Given the description of an element on the screen output the (x, y) to click on. 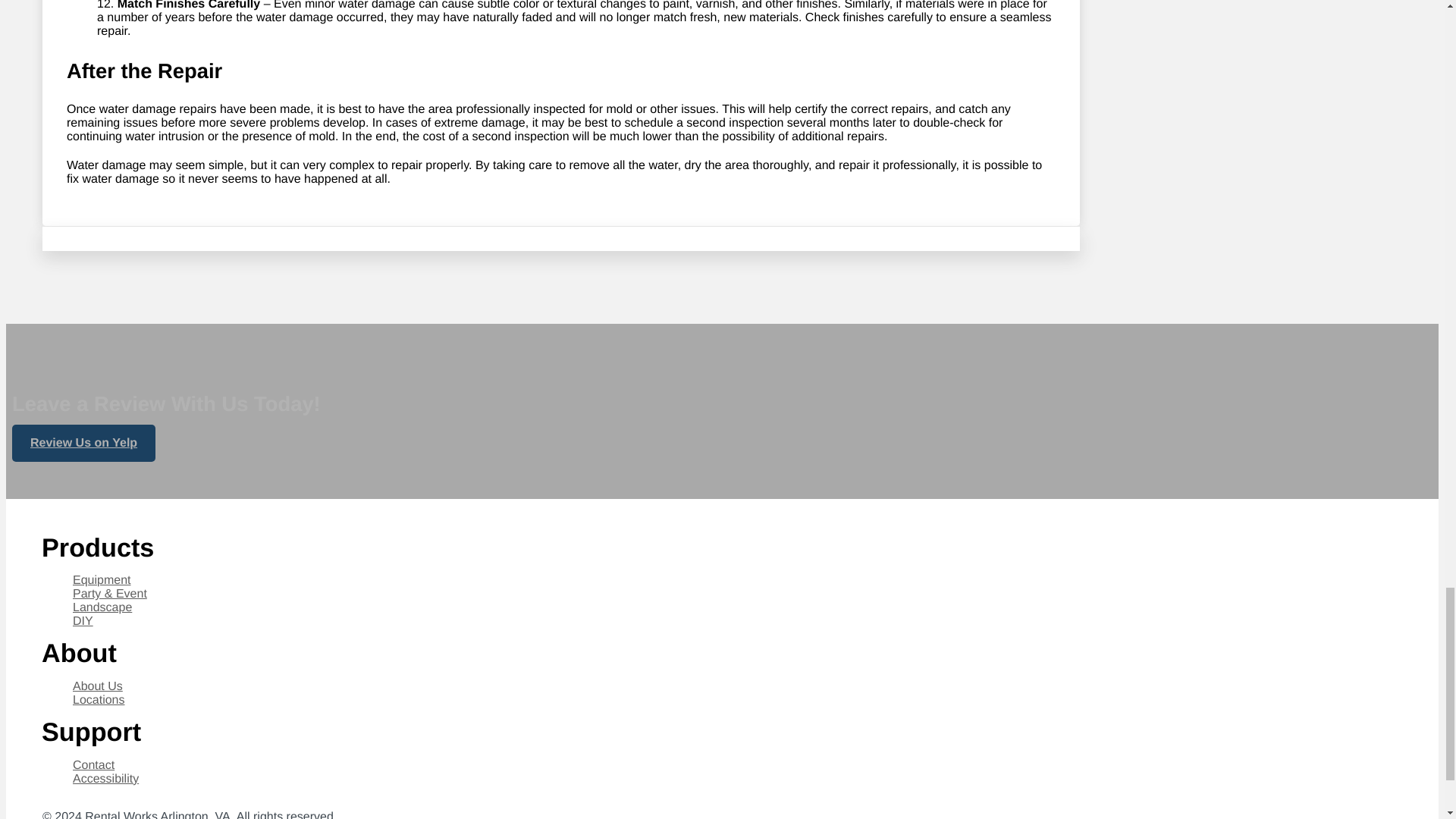
DIY (82, 620)
Landscape (102, 607)
About Us (97, 686)
Skip Navigation (60, 651)
Equipment (101, 580)
Review Us on Yelp (83, 443)
Skip Navigation (60, 545)
